Given the description of an element on the screen output the (x, y) to click on. 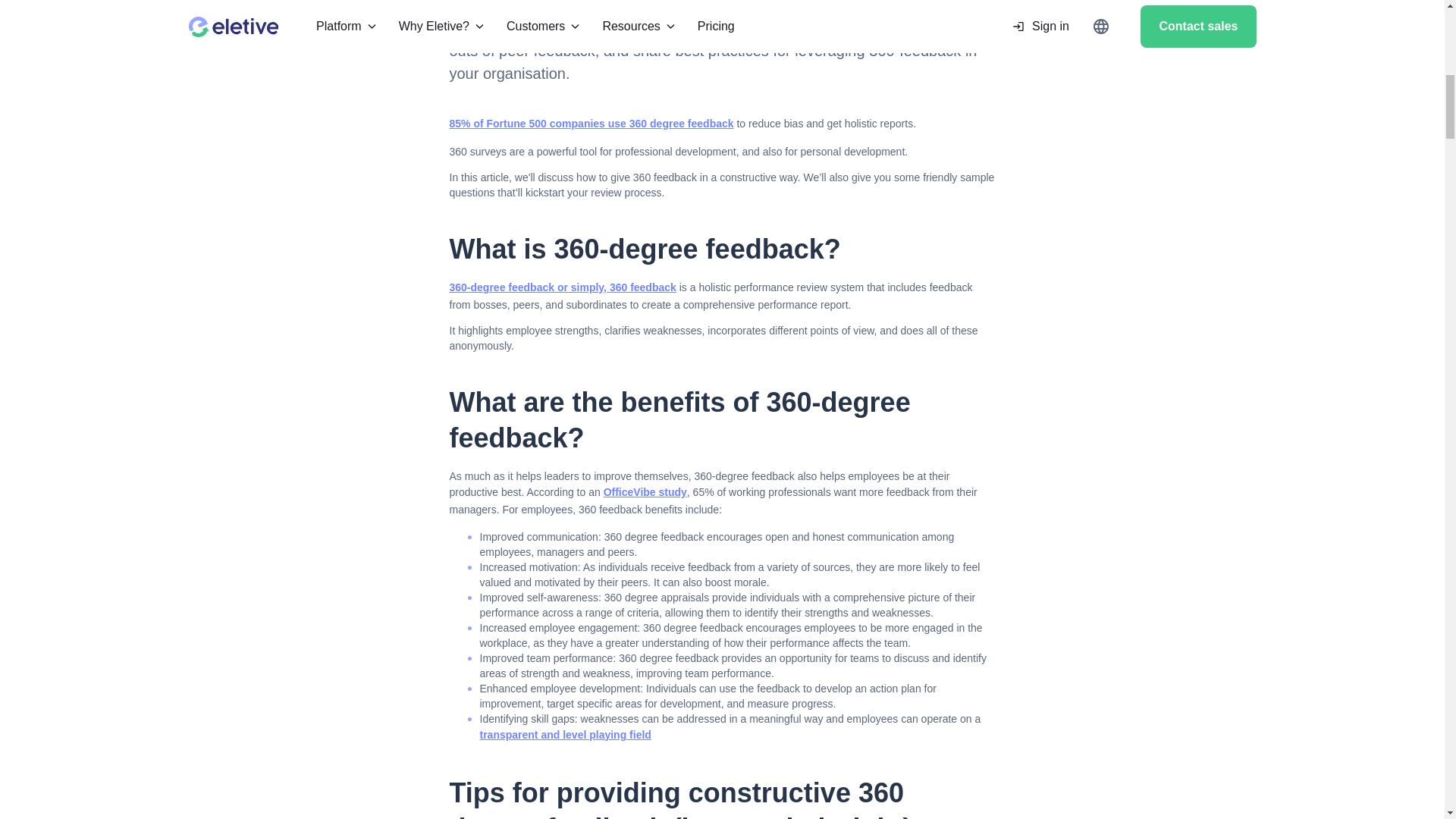
transparent and level playing field (564, 734)
360-degree feedback or simply, 360 feedback (561, 287)
OfficeVibe study (645, 491)
